Given the description of an element on the screen output the (x, y) to click on. 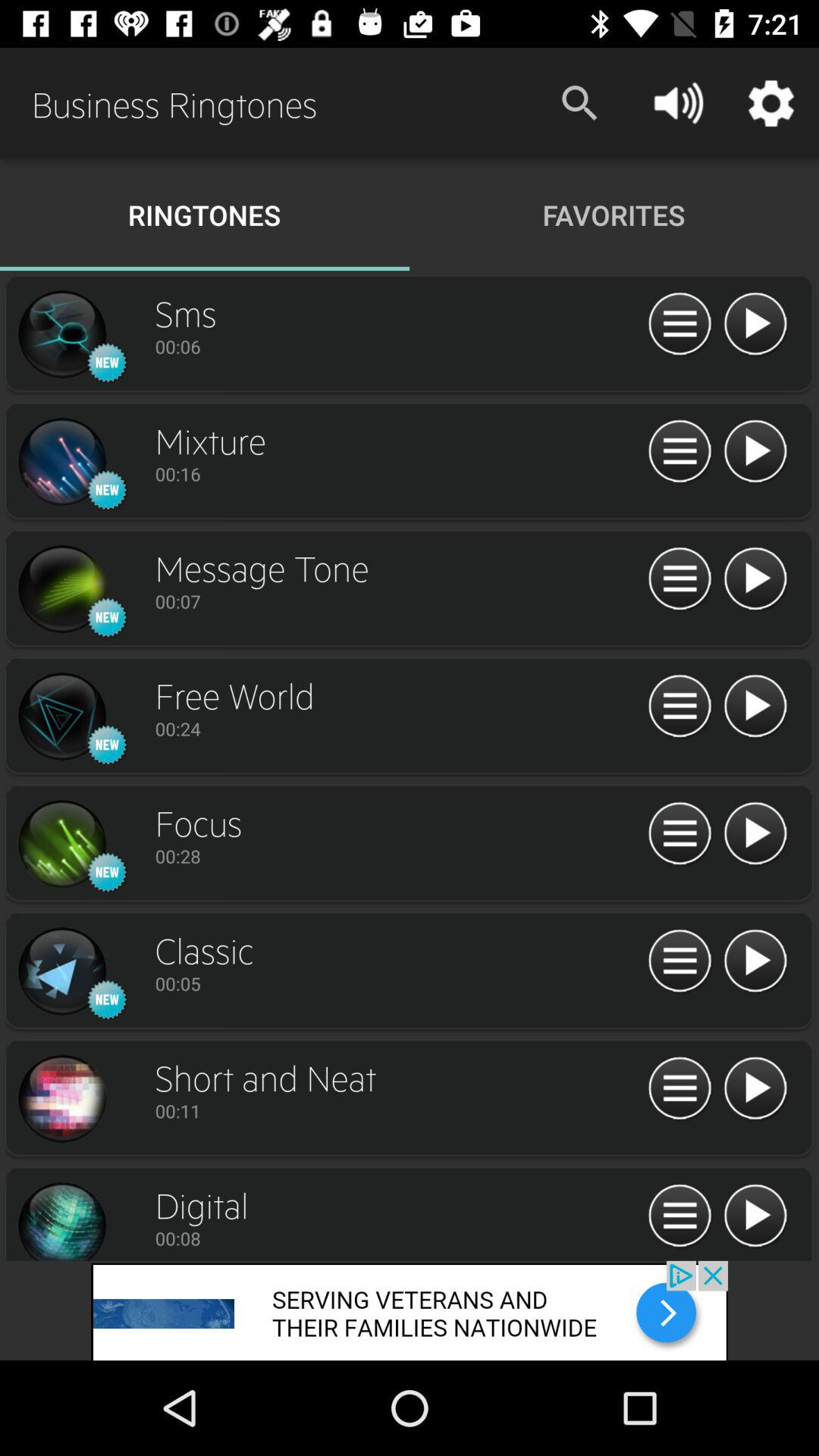
click the icon for short and neat (61, 1099)
